Given the description of an element on the screen output the (x, y) to click on. 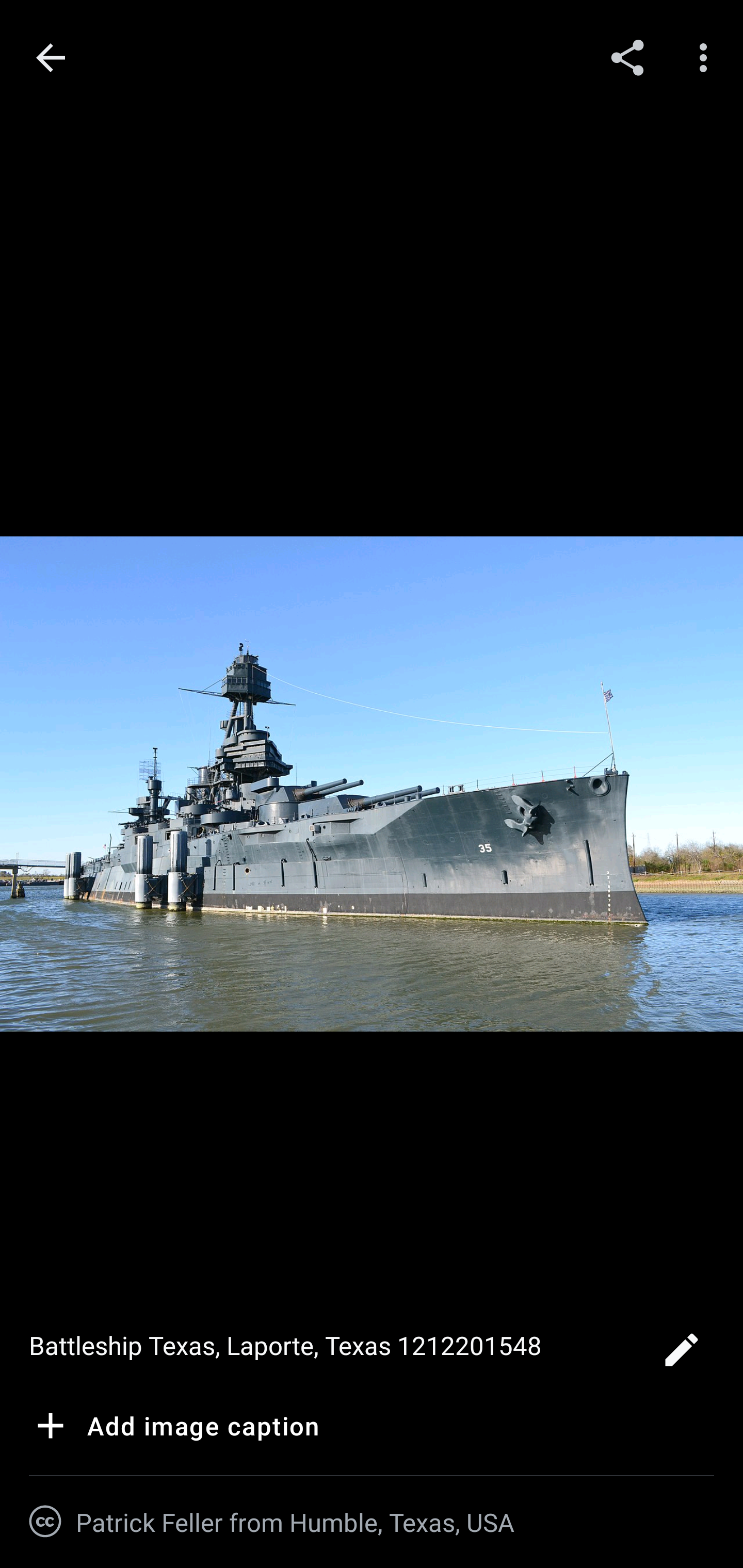
Navigate up (50, 57)
Share (626, 57)
More options (706, 57)
Edit image caption (681, 1355)
Add image caption (174, 1428)
CC BY 2.0 (44, 1521)
